Given the description of an element on the screen output the (x, y) to click on. 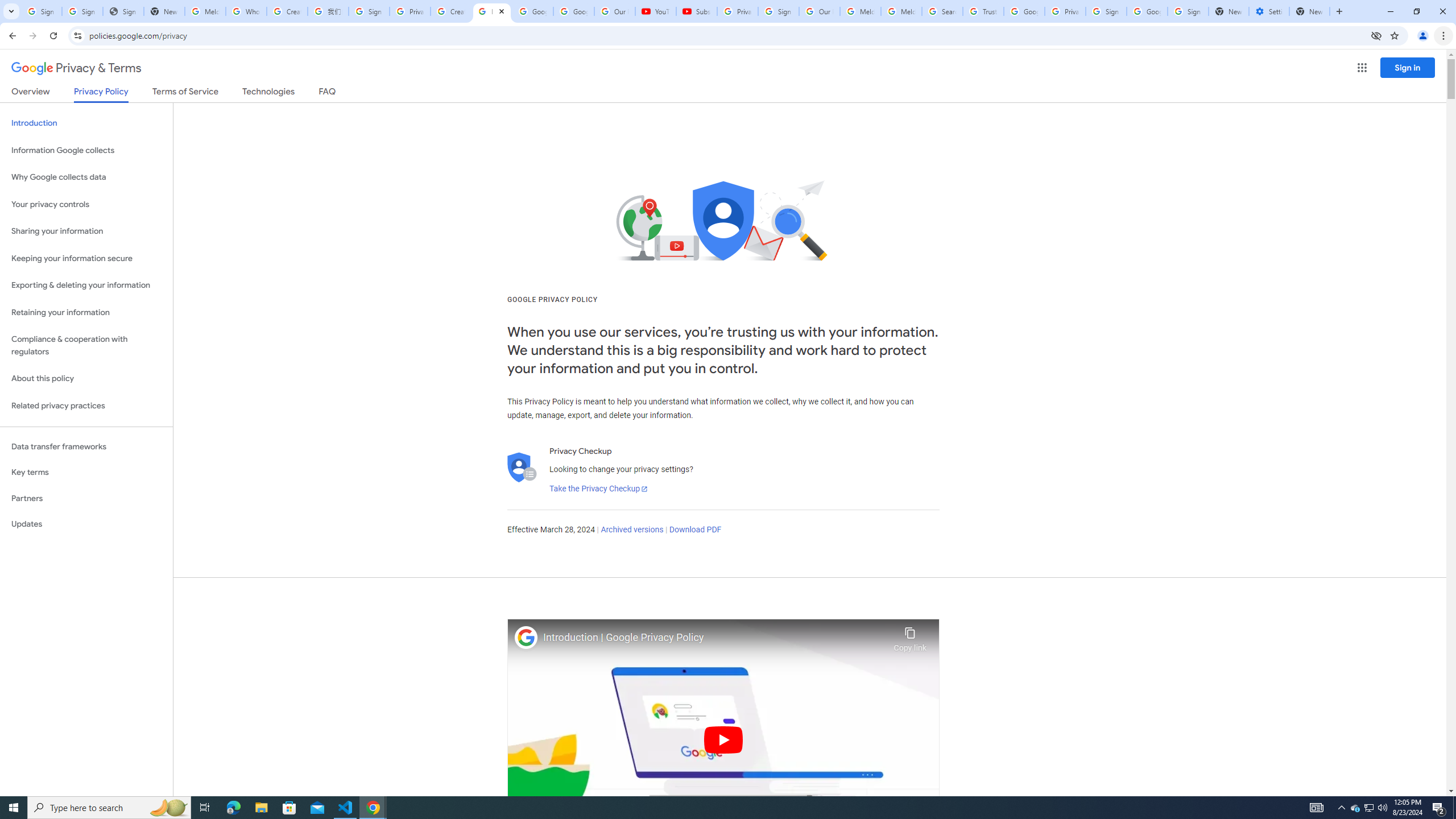
Archived versions (631, 529)
Sign in - Google Accounts (777, 11)
Why Google collects data (86, 176)
Sign in - Google Accounts (368, 11)
Exporting & deleting your information (86, 284)
YouTube (655, 11)
Related privacy practices (86, 405)
